Given the description of an element on the screen output the (x, y) to click on. 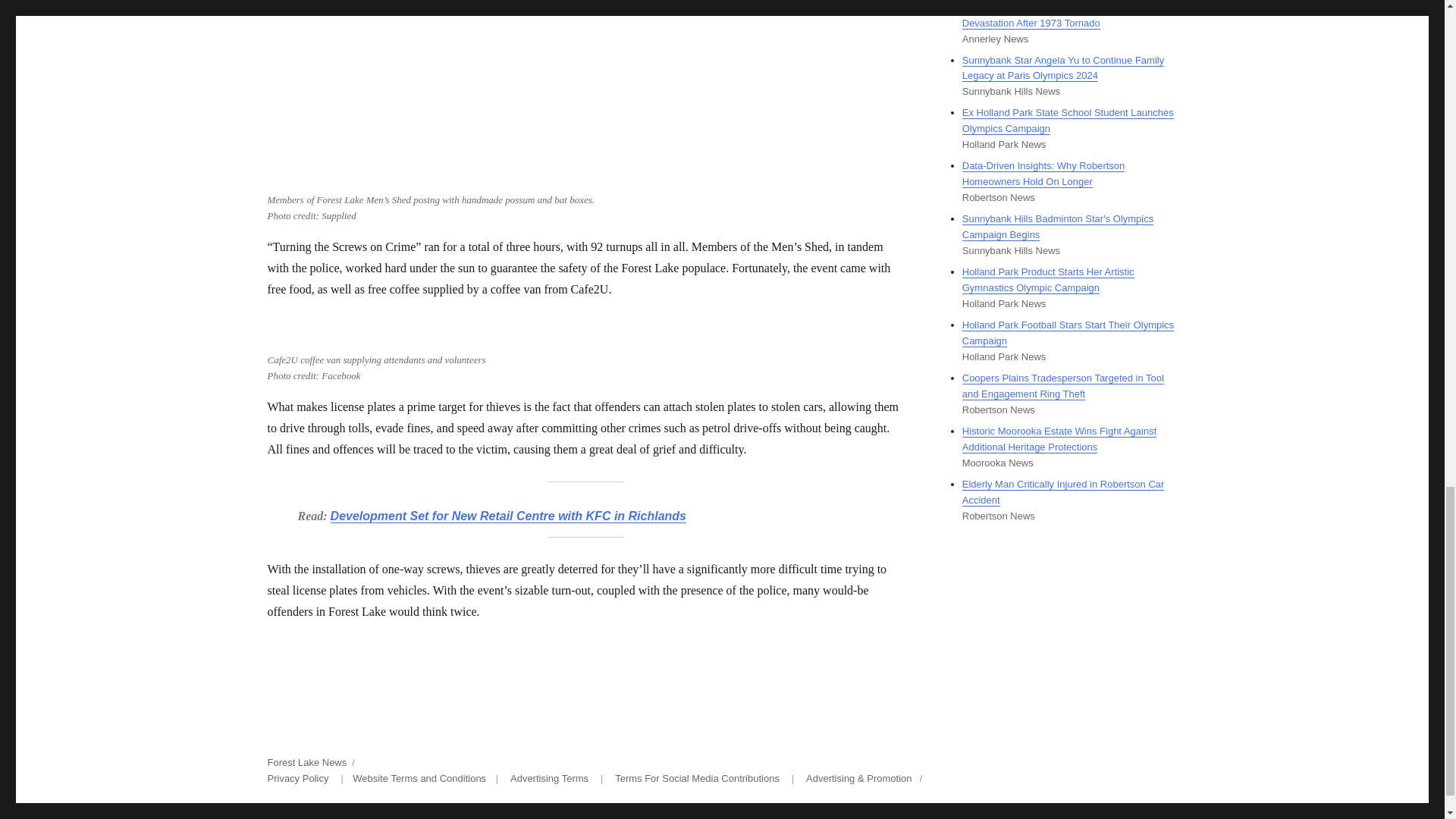
Holland Park Football Stars Start Their Olympics Campaign (1067, 332)
Development Set for New Retail Centre with KFC in Richlands (507, 515)
Advertising Terms (549, 778)
Privacy Policy (297, 778)
Elderly Man Critically Injured in Robertson Car Accident (1063, 492)
Sunnybank Hills Badminton Star's Olympics Campaign Begins (1057, 226)
Website Terms and Conditions (419, 778)
Forest Lake News (306, 762)
